Given the description of an element on the screen output the (x, y) to click on. 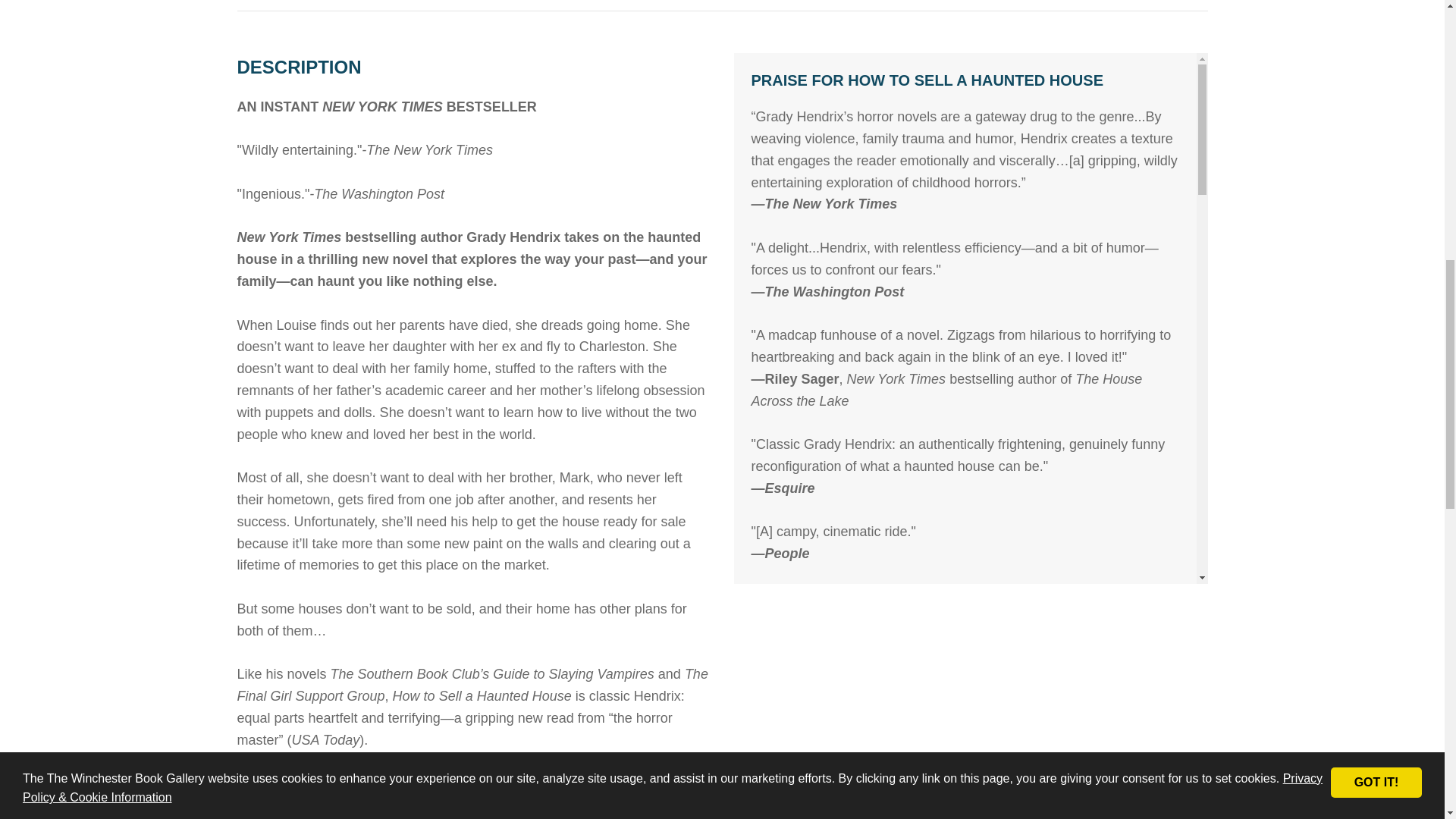
GOT IT! (1376, 4)
